Given the description of an element on the screen output the (x, y) to click on. 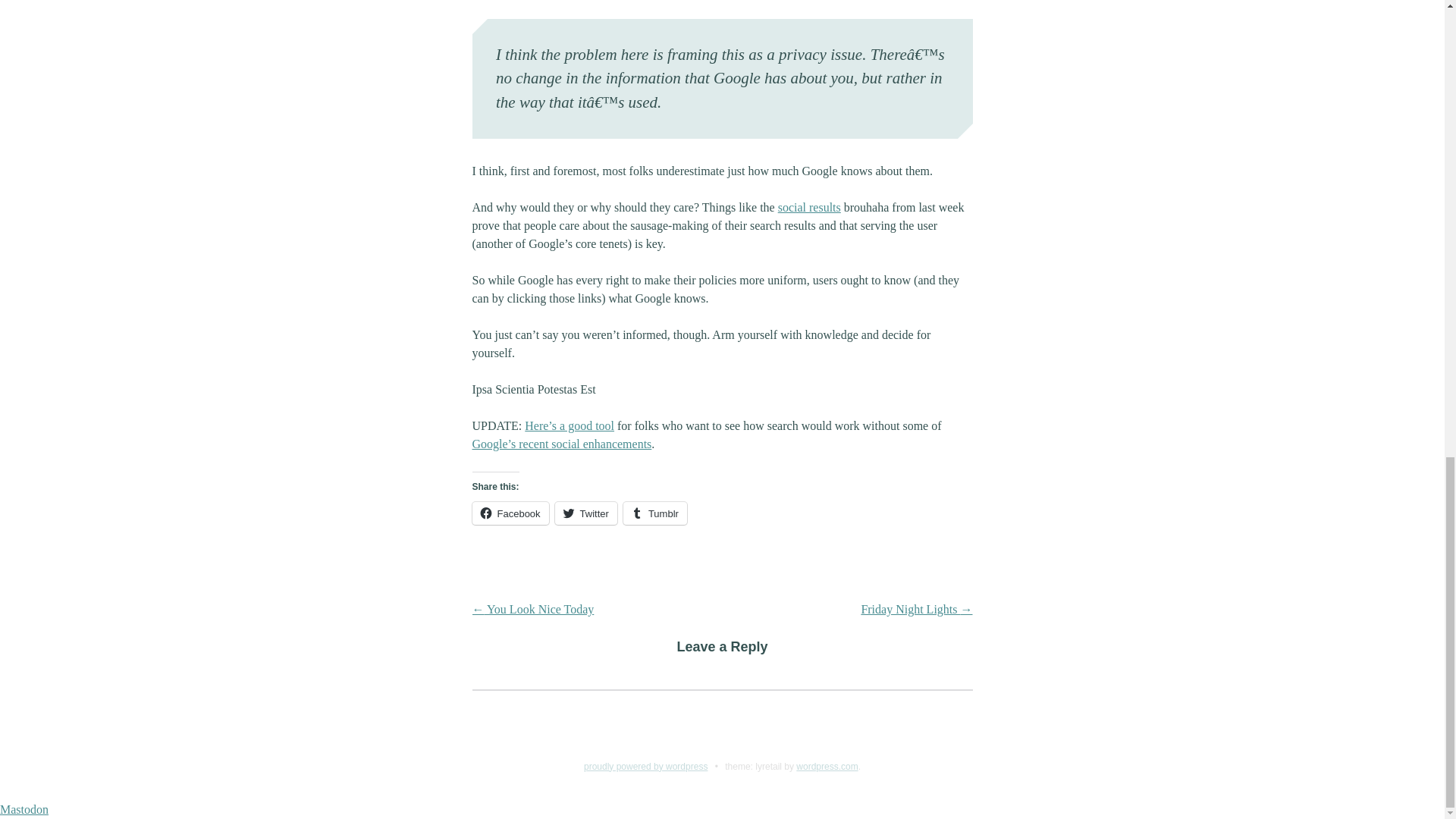
Click to share on Tumblr (655, 513)
social results (809, 206)
Tumblr (655, 513)
wordpress.com (826, 766)
Mastodon (24, 809)
Click to share on Twitter (585, 513)
Click to share on Facebook (509, 513)
proudly powered by wordpress (645, 766)
Twitter (585, 513)
